Given the description of an element on the screen output the (x, y) to click on. 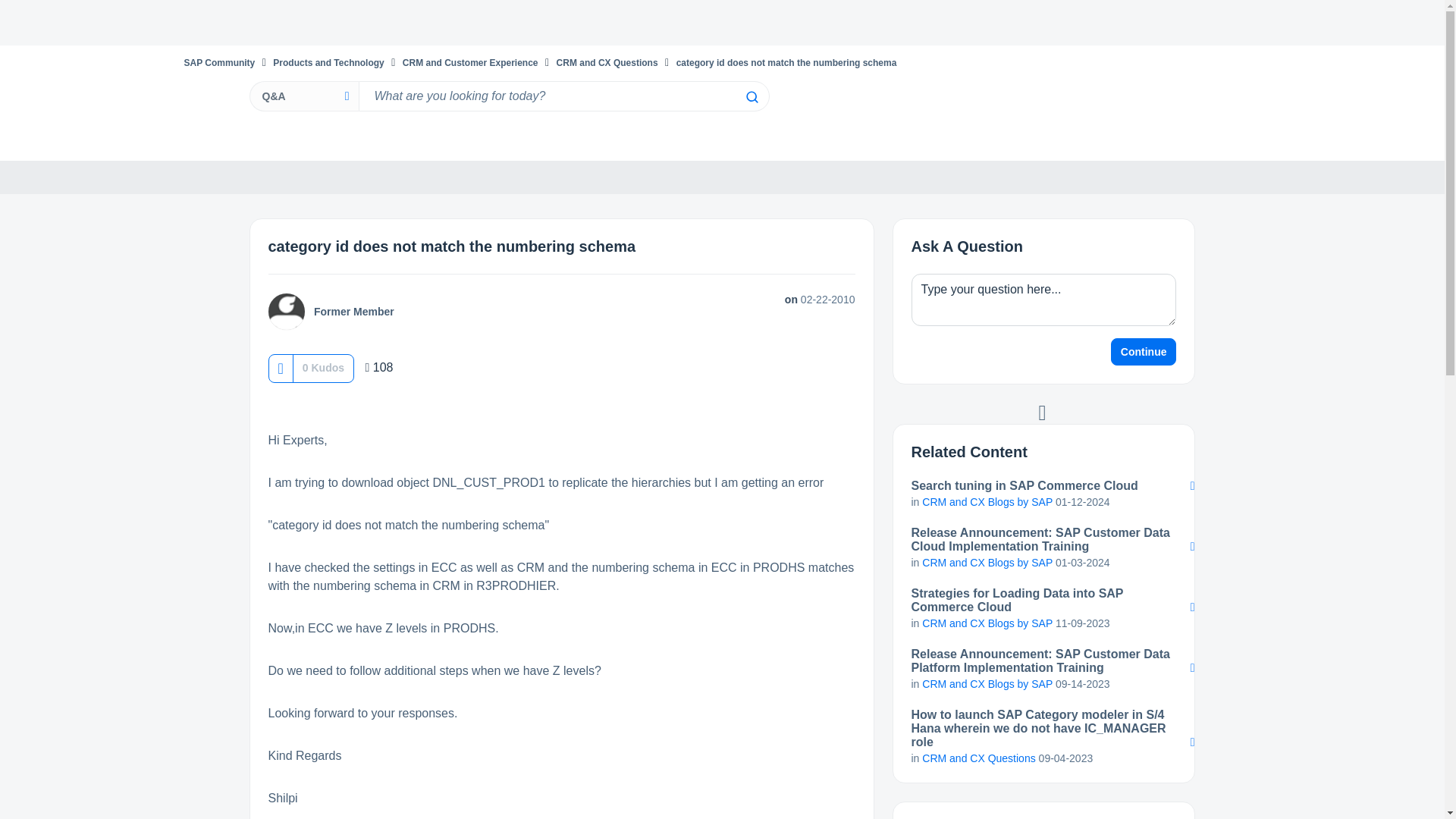
Products and Technology (328, 62)
The total number of kudos this post has received. (323, 367)
Search Granularity (303, 96)
CRM and CX Questions (607, 62)
Search (750, 96)
Search (563, 96)
Search (750, 96)
Click here to give kudos to this post. (279, 367)
CRM and Customer Experience (470, 62)
SAP Community (218, 62)
Continue (1143, 351)
Search (750, 96)
